Given the description of an element on the screen output the (x, y) to click on. 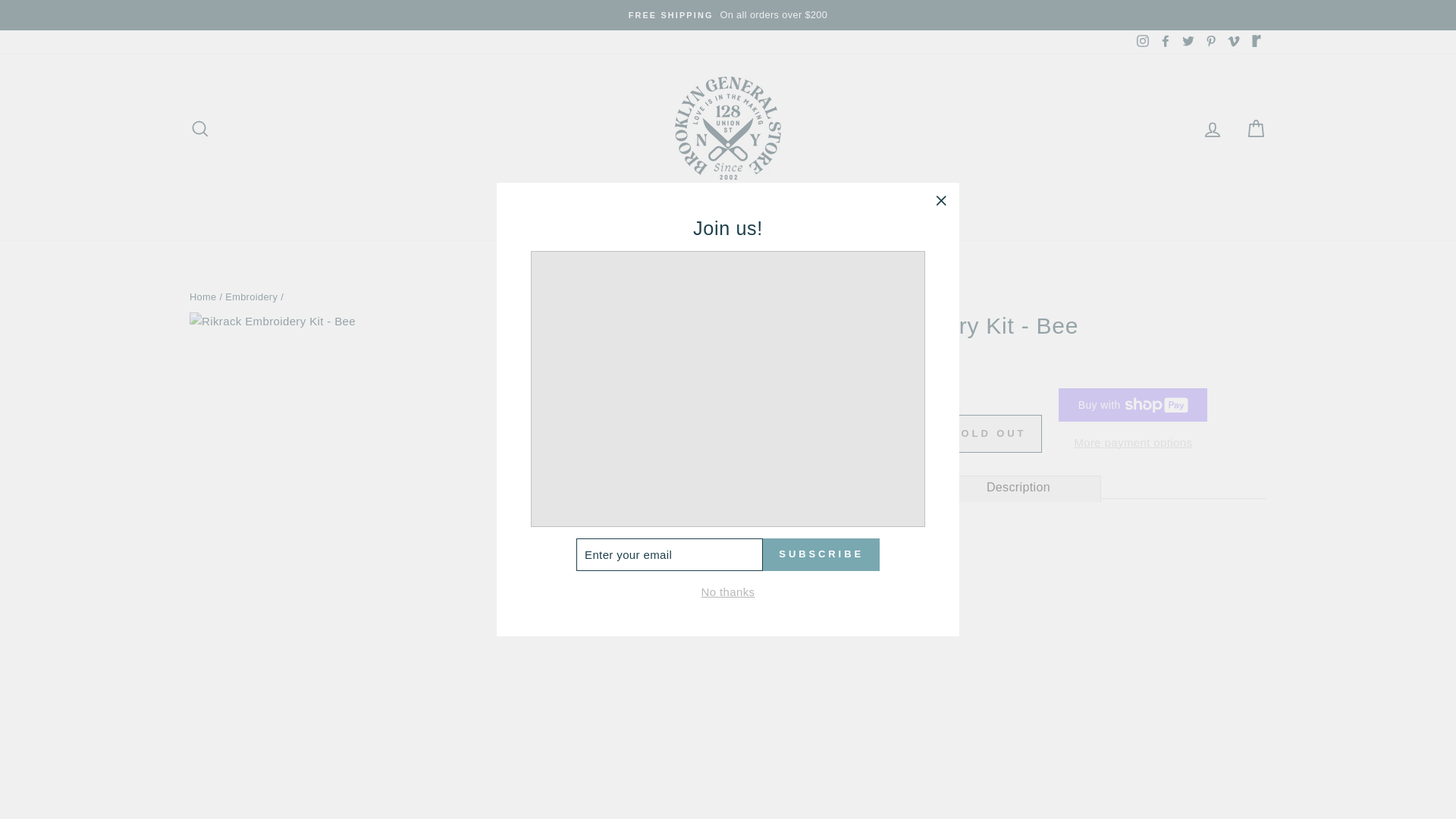
Twitter (1187, 41)
Pinterest (870, 549)
Vimeo (1211, 41)
Shipping (1233, 41)
Options (790, 375)
Skip to content (853, 485)
Embroidery (1142, 41)
Back to the frontpage (251, 296)
Shop (202, 296)
Brooklyn General Store on Facebook (707, 206)
Make (1165, 41)
1 (770, 206)
Brooklyn General Store on Vimeo (861, 436)
